Given the description of an element on the screen output the (x, y) to click on. 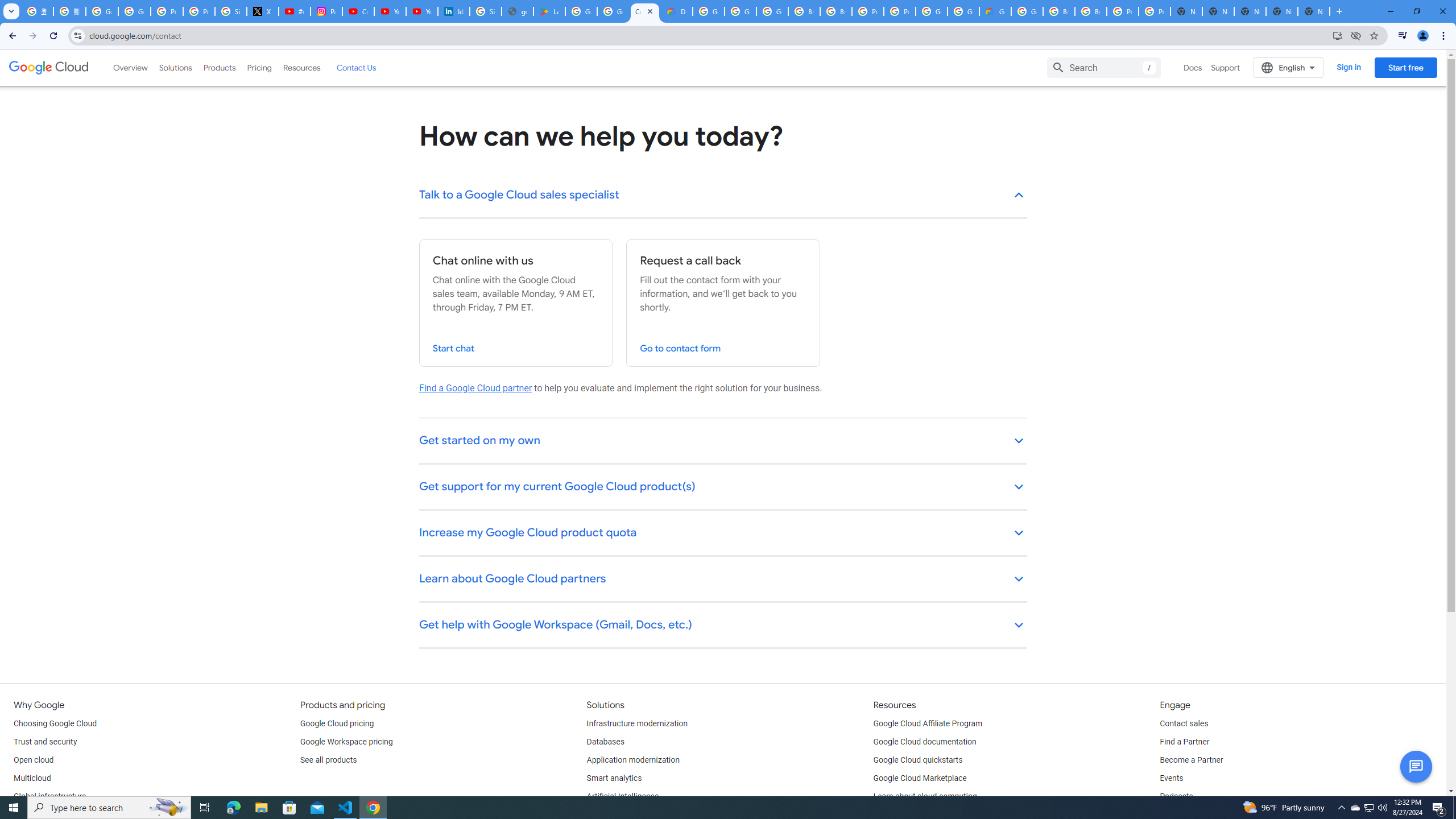
Browse Chrome as a guest - Computer - Google Chrome Help (836, 11)
Identity verification via Persona | LinkedIn Help (453, 11)
Resources (301, 67)
Sign in - Google Accounts (230, 11)
Google Cloud Marketplace (919, 778)
Global infrastructure (49, 796)
Sign in - Google Accounts (485, 11)
Artificial Intelligence (622, 796)
Control your music, videos, and more (1402, 35)
Solutions (175, 67)
Choosing Google Cloud (55, 723)
